Given the description of an element on the screen output the (x, y) to click on. 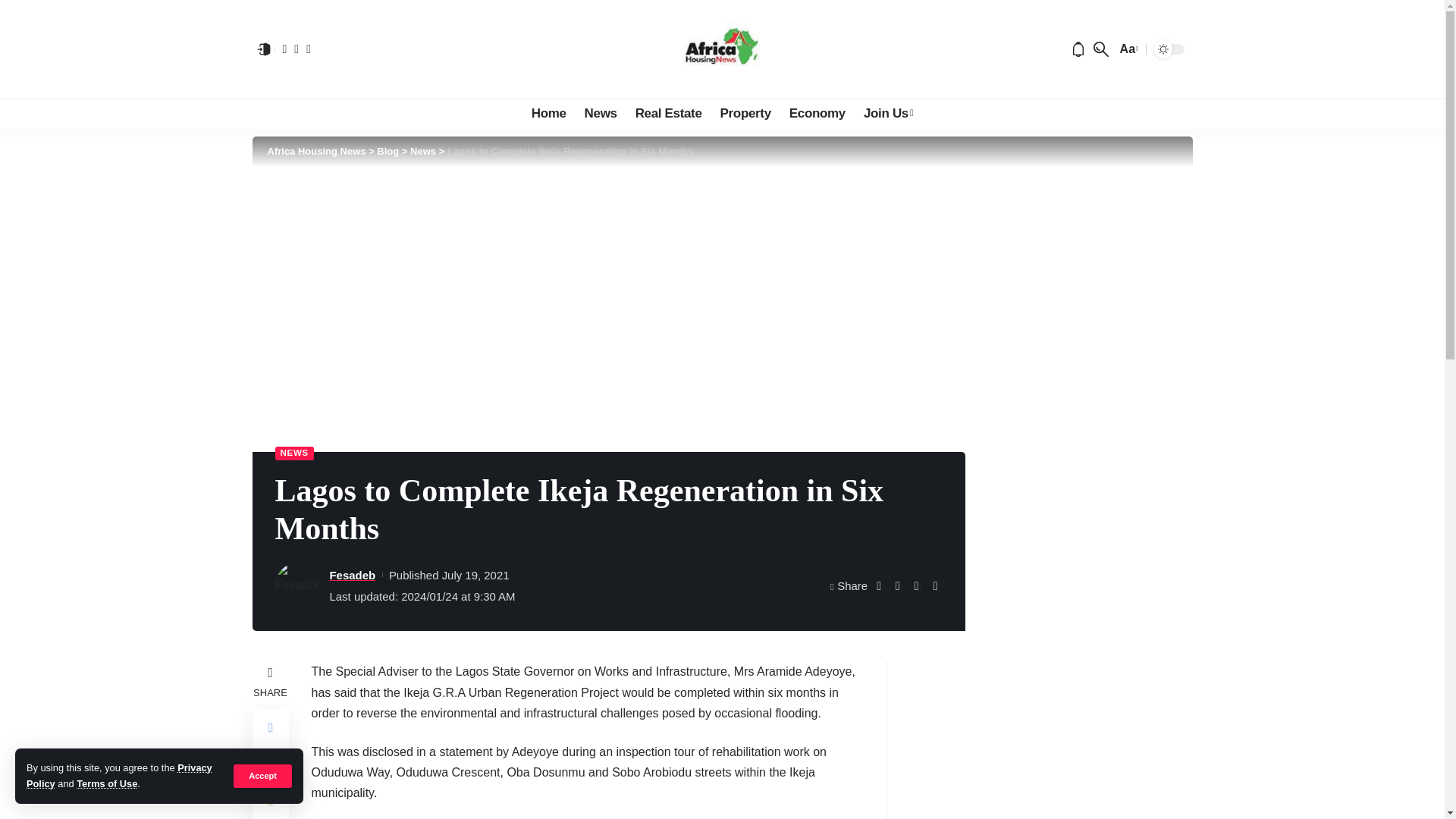
Aa (1127, 48)
Terms of Use (106, 783)
Join Us (887, 113)
Privacy Policy (119, 775)
Home (548, 113)
Go to Blog. (387, 151)
Go to the News Category archives. (422, 151)
Accept (262, 775)
Real Estate (668, 113)
Africa Housing News (722, 48)
News (600, 113)
Property (745, 113)
Go to Africa Housing News. (315, 151)
Economy (817, 113)
